Given the description of an element on the screen output the (x, y) to click on. 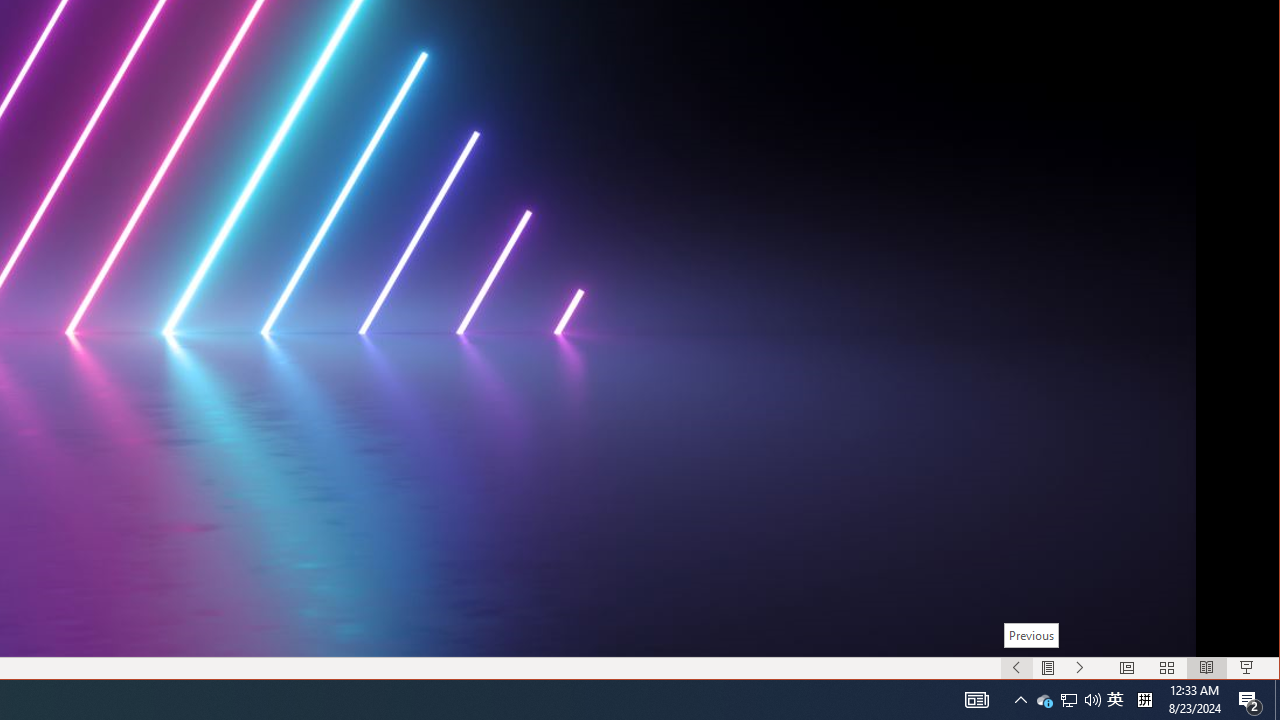
Slide Show Previous On (1016, 668)
Menu On (1048, 668)
Slide Show Next On (1080, 668)
